Given the description of an element on the screen output the (x, y) to click on. 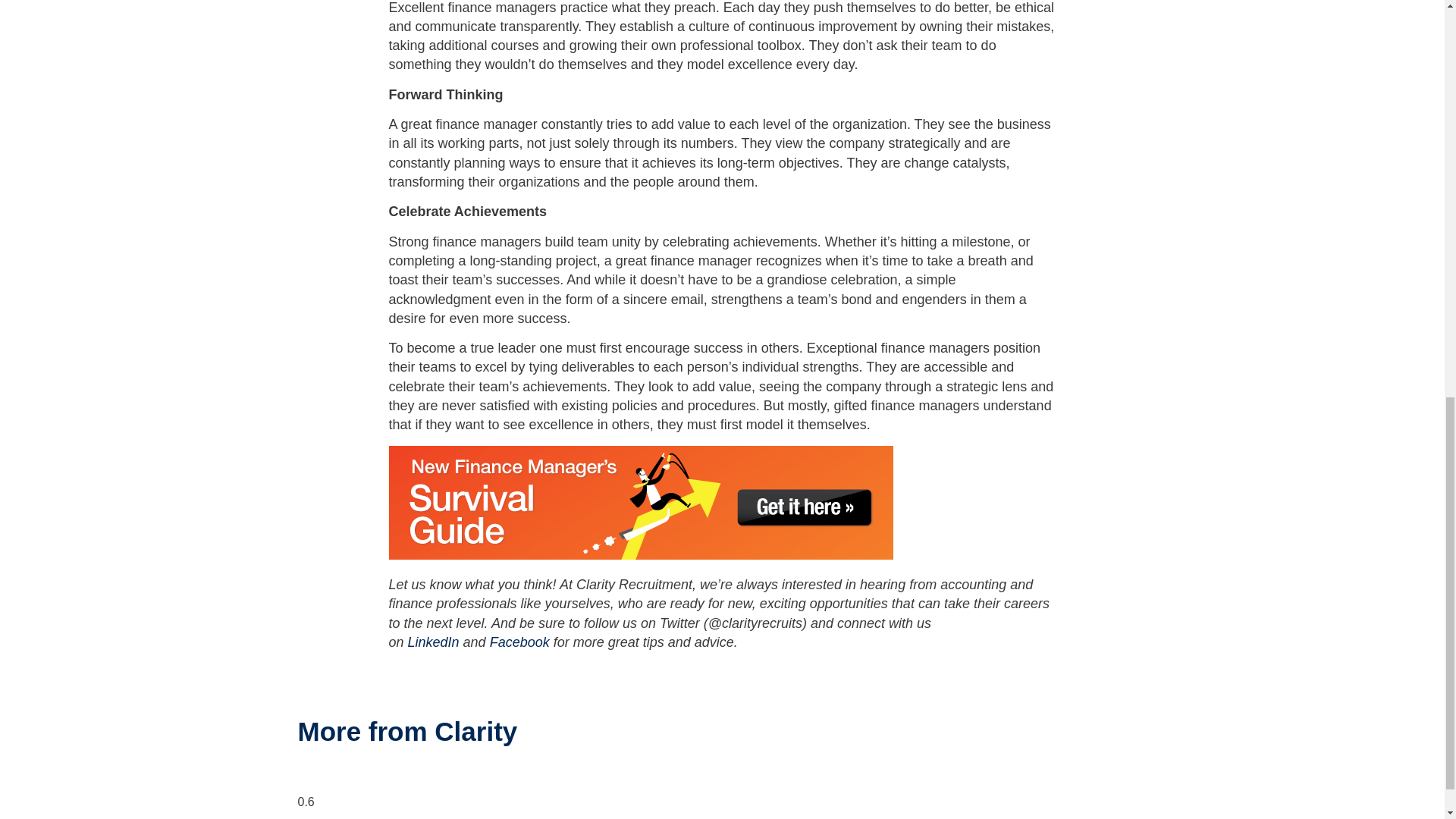
Facebook (519, 642)
LinkedIn (433, 642)
